Given the description of an element on the screen output the (x, y) to click on. 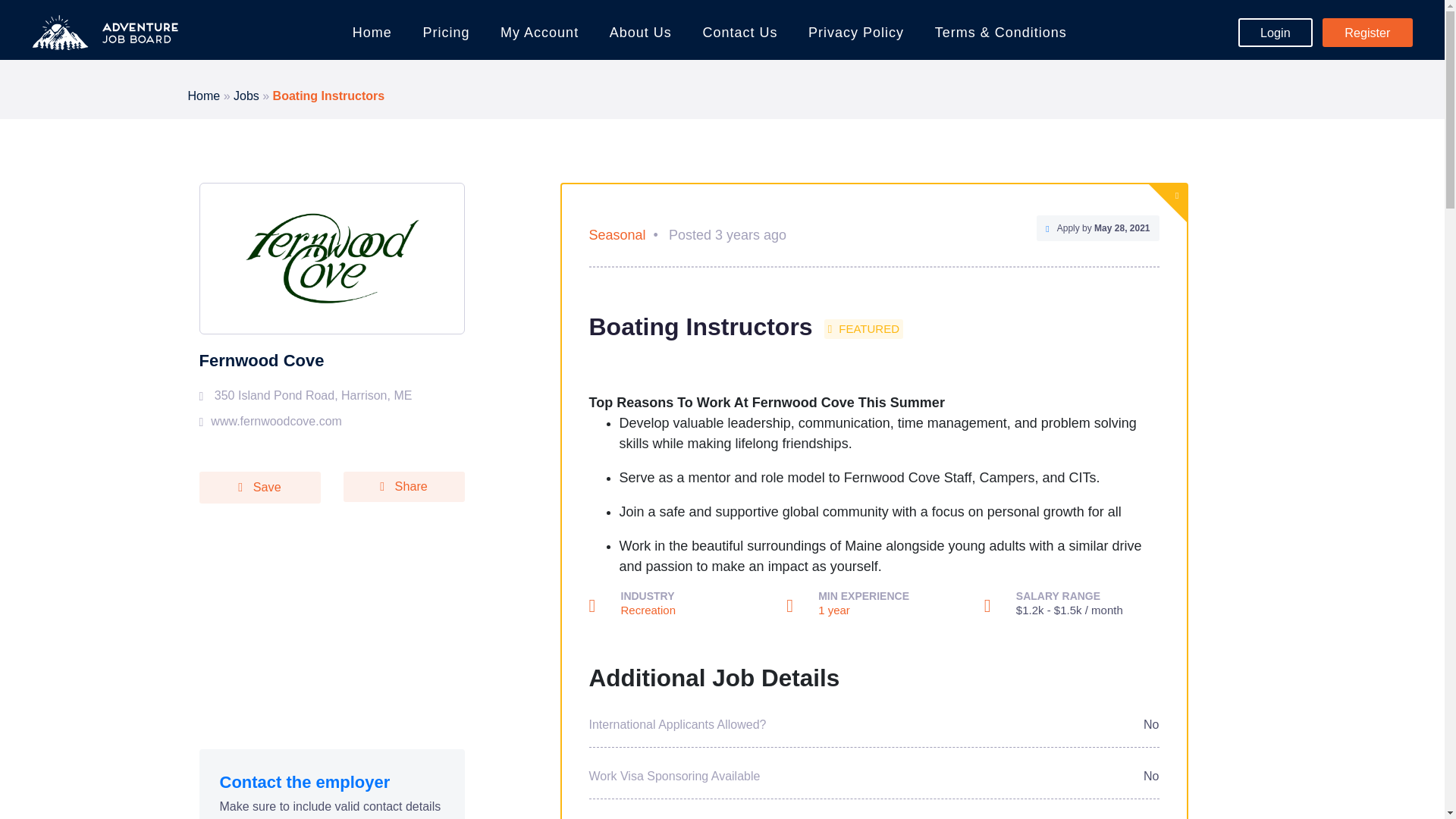
Seasonal (616, 234)
Recreation (647, 609)
Home (204, 95)
Home (372, 32)
About Us (640, 32)
Contact Us (740, 32)
Privacy Policy (855, 32)
My Account (539, 32)
1 year (834, 609)
Fernwood Cove (260, 360)
Register (1367, 32)
Jobs (245, 95)
Save (259, 487)
Login (1276, 32)
Pricing (445, 32)
